Given the description of an element on the screen output the (x, y) to click on. 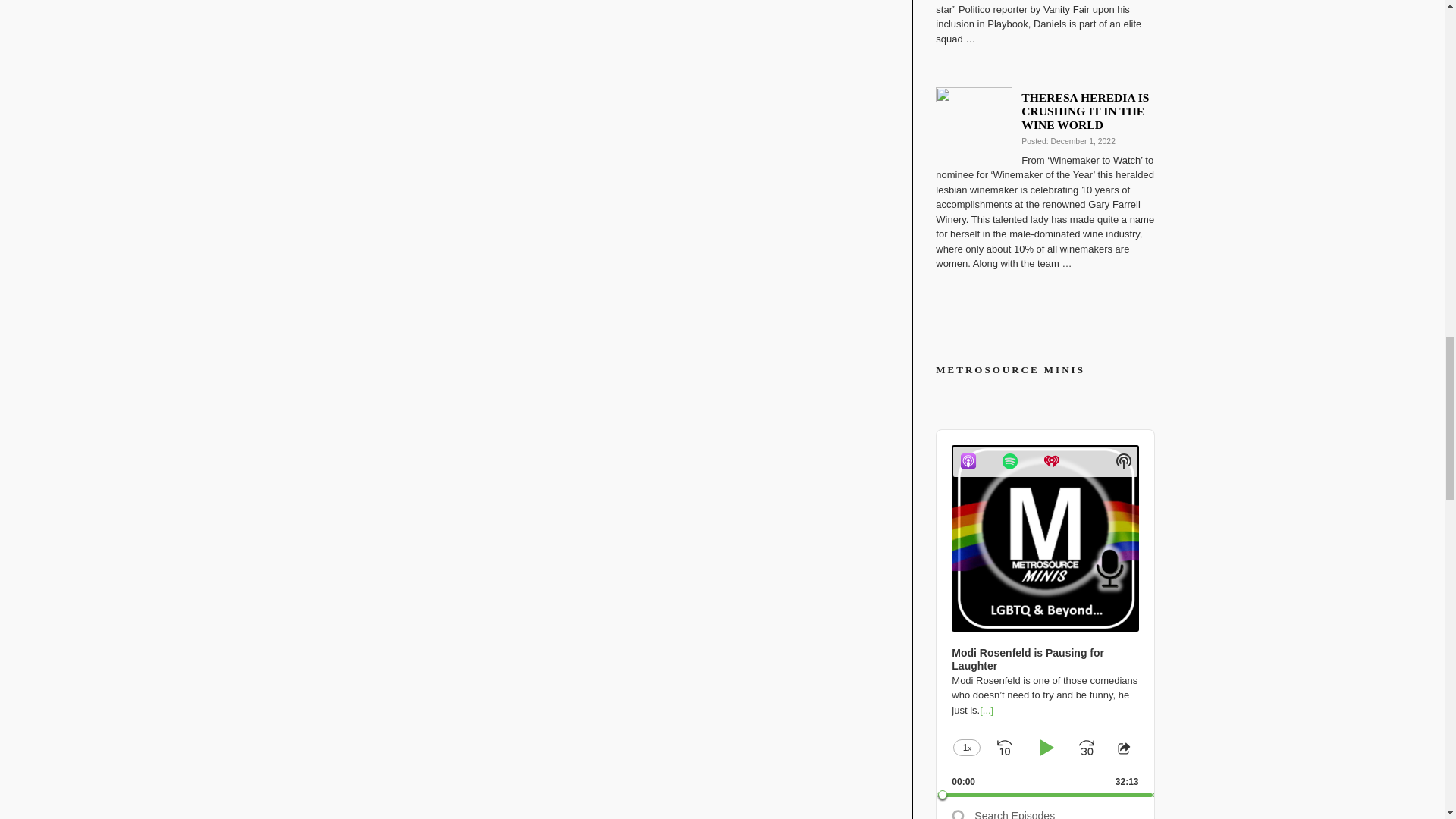
Search Podcast Episodes (1045, 809)
0 (1044, 794)
